Given the description of an element on the screen output the (x, y) to click on. 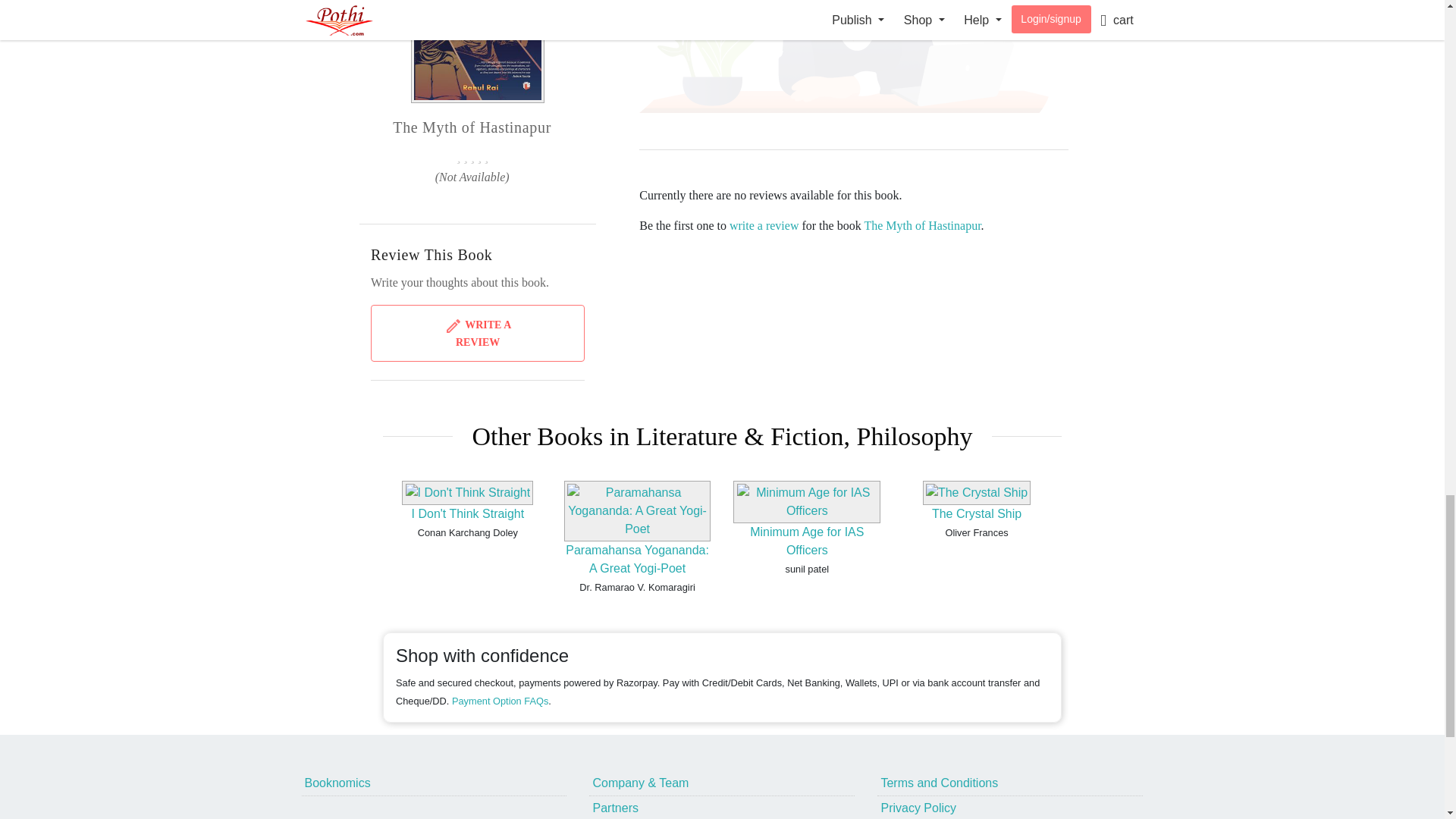
I Don't Think Straight (468, 513)
write a review (764, 225)
WRITE A REVIEW (478, 332)
The Myth of Hastinapur (921, 225)
I Don't Think Straight (468, 513)
Paramahansa Yogananda: A Great Yogi-Poet (637, 558)
The Crystal Ship (976, 513)
The Myth of Hastinapur (477, 51)
Minimum Age for IAS Officers (806, 540)
